Given the description of an element on the screen output the (x, y) to click on. 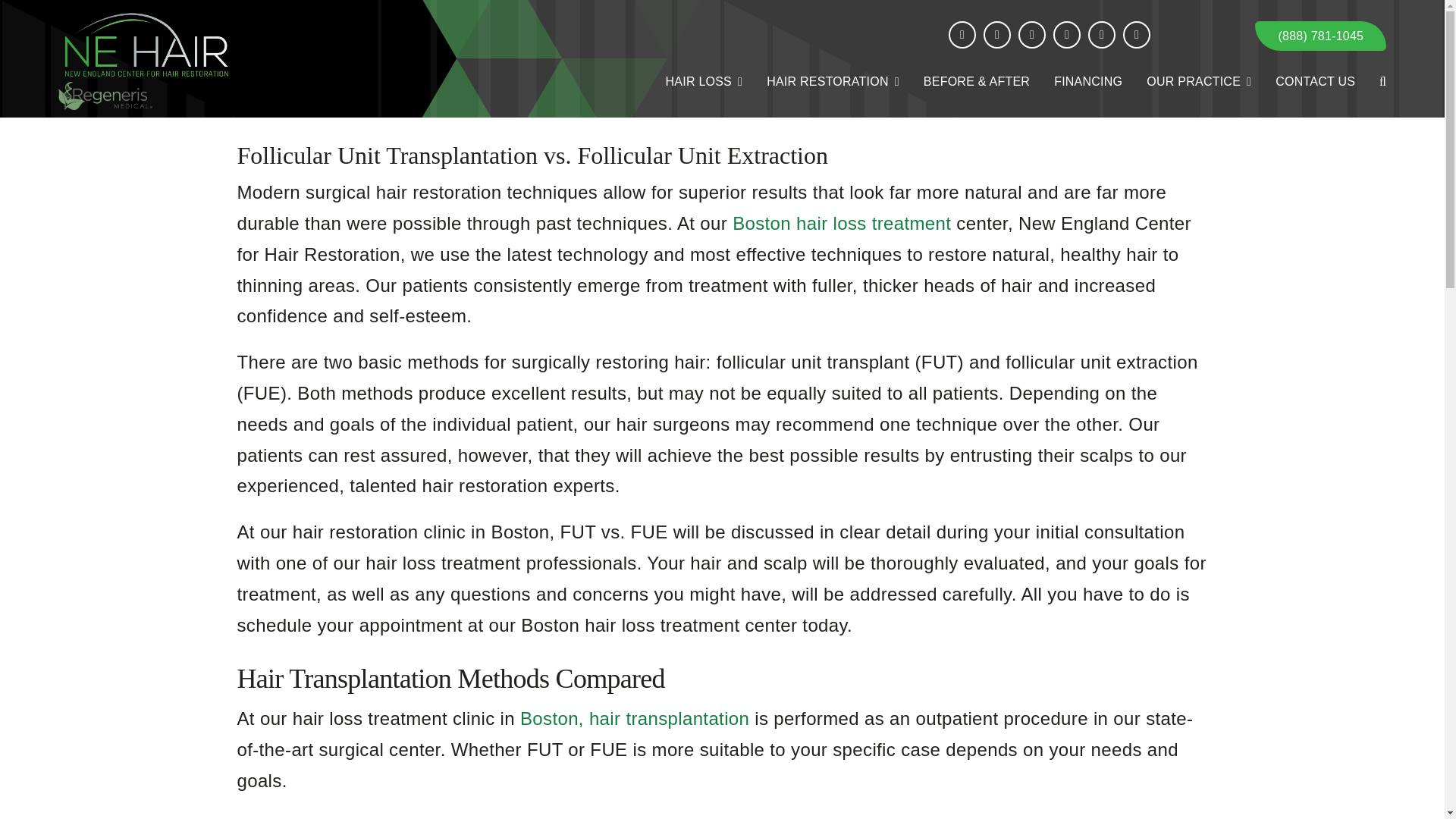
Call us now! (1320, 35)
Pinterest (1066, 34)
Facebook (962, 34)
YouTube (1101, 34)
X (997, 34)
HAIR RESTORATION (833, 81)
LinkedIn (1136, 34)
HAIR LOSS (703, 81)
Instagram (1031, 34)
Search (1382, 81)
